Given the description of an element on the screen output the (x, y) to click on. 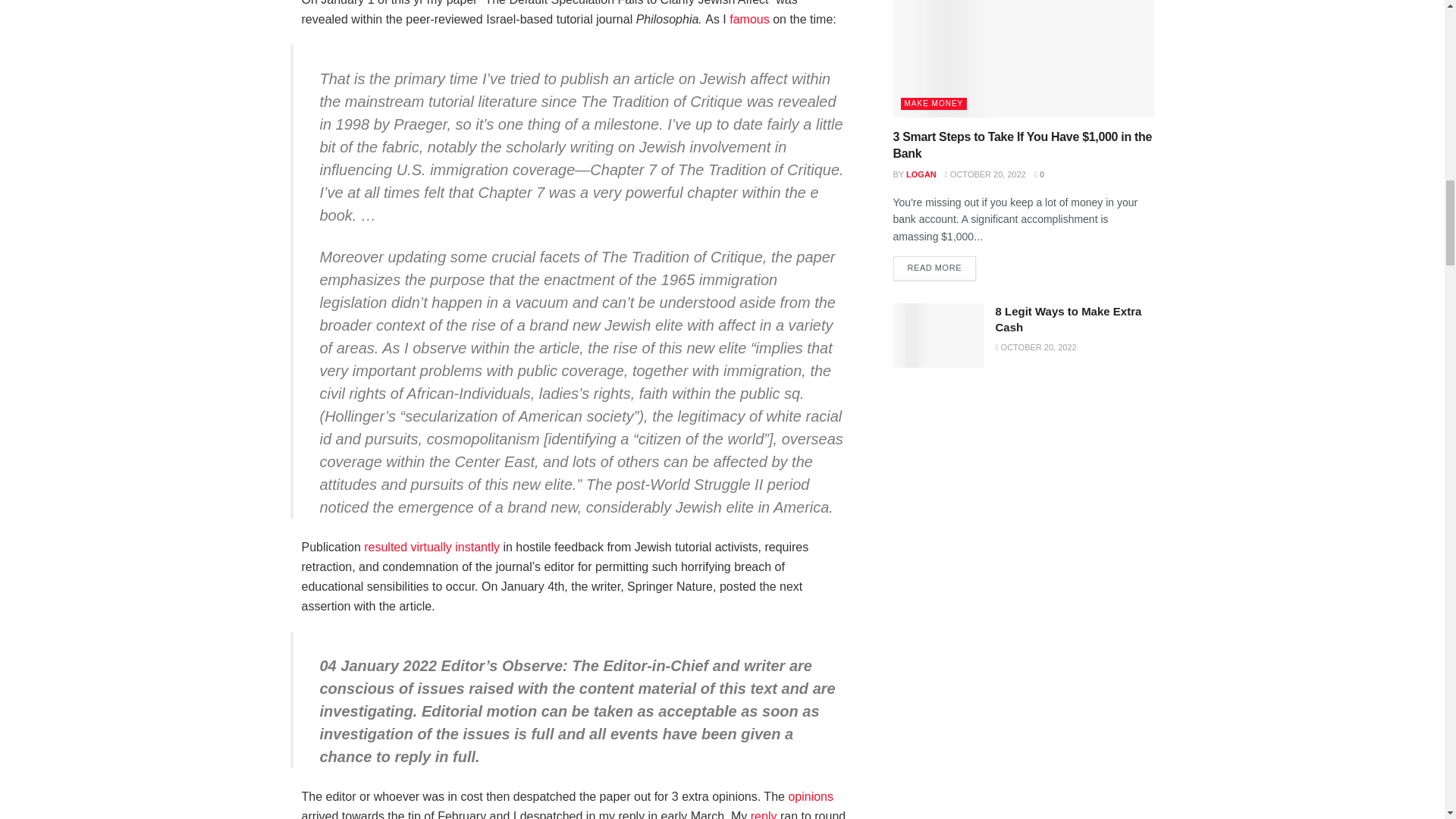
famous (748, 19)
